Given the description of an element on the screen output the (x, y) to click on. 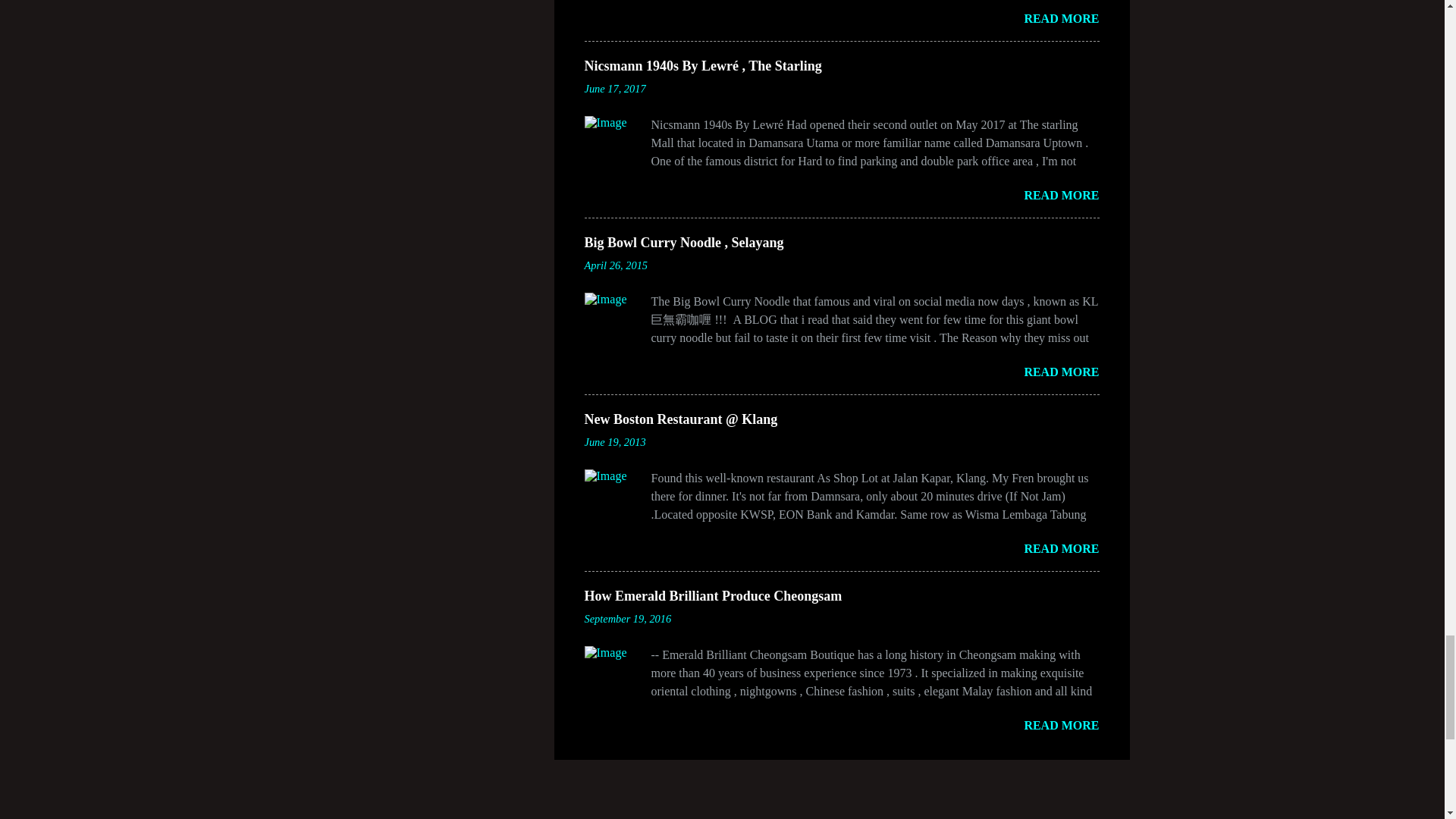
READ MORE (1061, 371)
June 17, 2017 (614, 88)
Big Bowl Curry Noodle , Selayang (683, 242)
READ MORE (1061, 18)
April 26, 2015 (615, 265)
READ MORE (1061, 195)
